Given the description of an element on the screen output the (x, y) to click on. 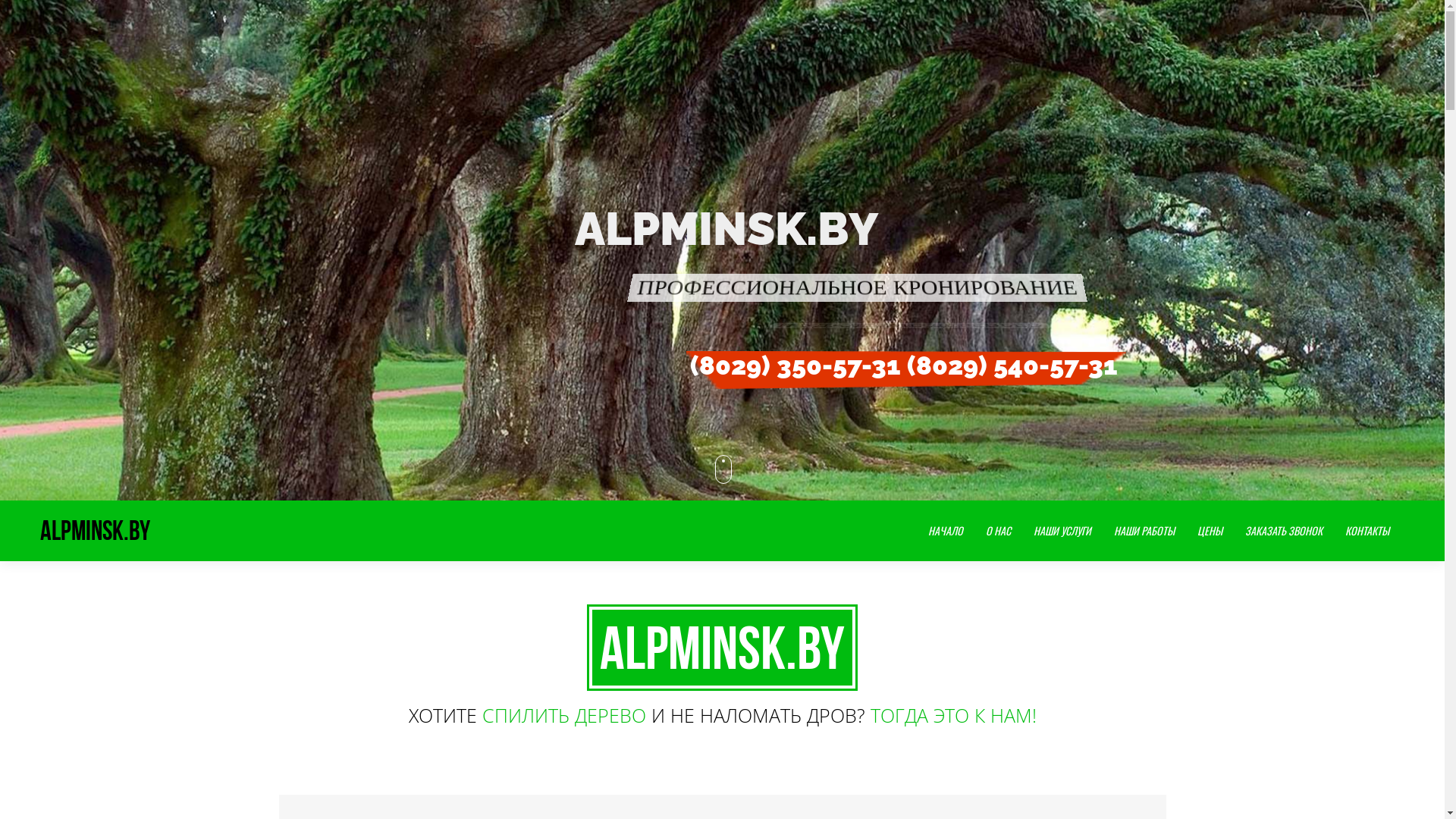
alpminsk.by Element type: text (95, 530)
